Given the description of an element on the screen output the (x, y) to click on. 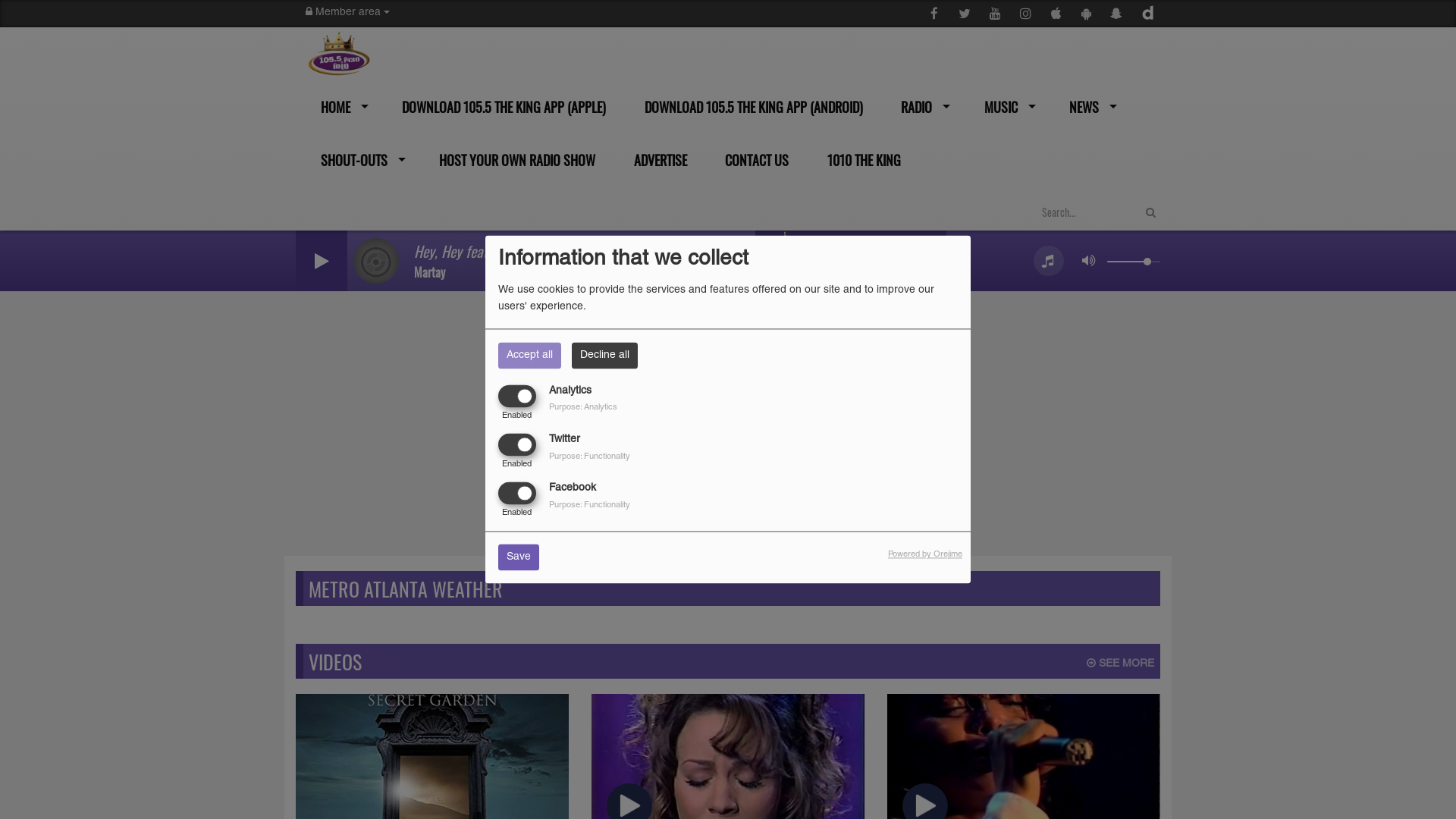
SHOUT-OUTS Element type: text (358, 159)
ADVERTISE Element type: text (658, 159)
HOST YOUR OWN RADIO SHOW Element type: text (514, 159)
CONTACT US Element type: text (755, 159)
Decline all Element type: text (604, 355)
Accept all Element type: text (529, 355)
Member area Element type: text (347, 12)
1010 THE KING Element type: text (861, 159)
DOWNLOAD 105.5 THE KING APP (ANDROID) Element type: text (751, 106)
Powered by Orejime Element type: text (925, 555)
SEE MORE Element type: text (1120, 663)
HOME Element type: text (340, 106)
Save Element type: text (518, 557)
DOWNLOAD 105.5 THE KING APP (APPLE) Element type: text (502, 106)
NEWS Element type: text (1089, 106)
MUSIC Element type: text (1005, 106)
RADIO Element type: text (922, 106)
